Given the description of an element on the screen output the (x, y) to click on. 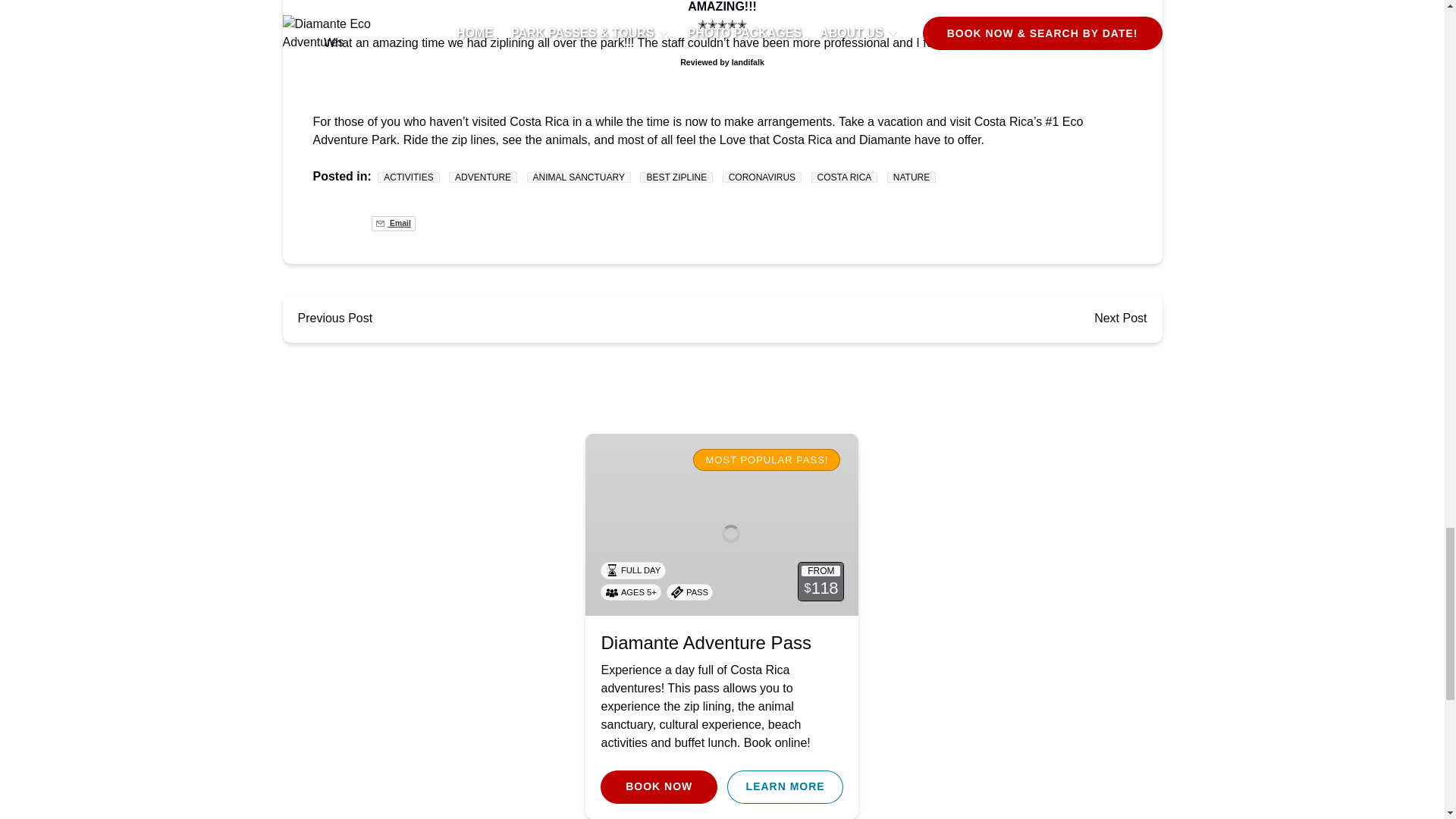
Email (392, 223)
BEST ZIPLINE (676, 176)
NATURE (911, 176)
ANIMAL SANCTUARY (578, 176)
Next Post (1119, 318)
ADVENTURE (482, 176)
CORONAVIRUS (762, 176)
Previous Post (334, 318)
COSTA RICA (843, 176)
ACTIVITIES (408, 176)
